Given the description of an element on the screen output the (x, y) to click on. 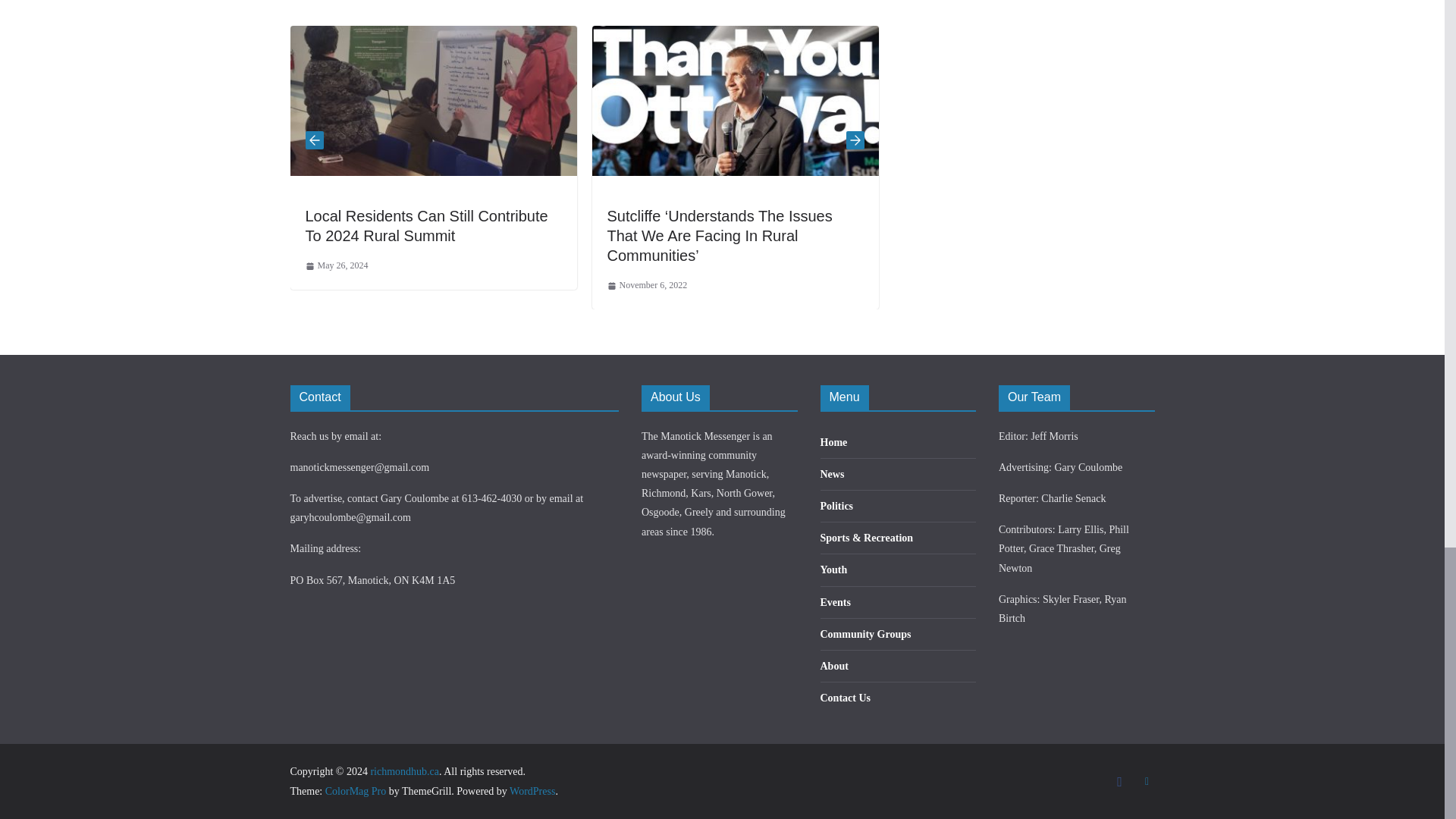
Local Residents Can Still Contribute To 2024 Rural Summit (432, 35)
November 6, 2022 (647, 285)
11:06 pm (647, 285)
May 26, 2024 (336, 265)
Local Residents Can Still Contribute To 2024 Rural Summit (425, 226)
Local Residents Can Still Contribute To 2024 Rural Summit (425, 226)
8:48 pm (336, 265)
